Given the description of an element on the screen output the (x, y) to click on. 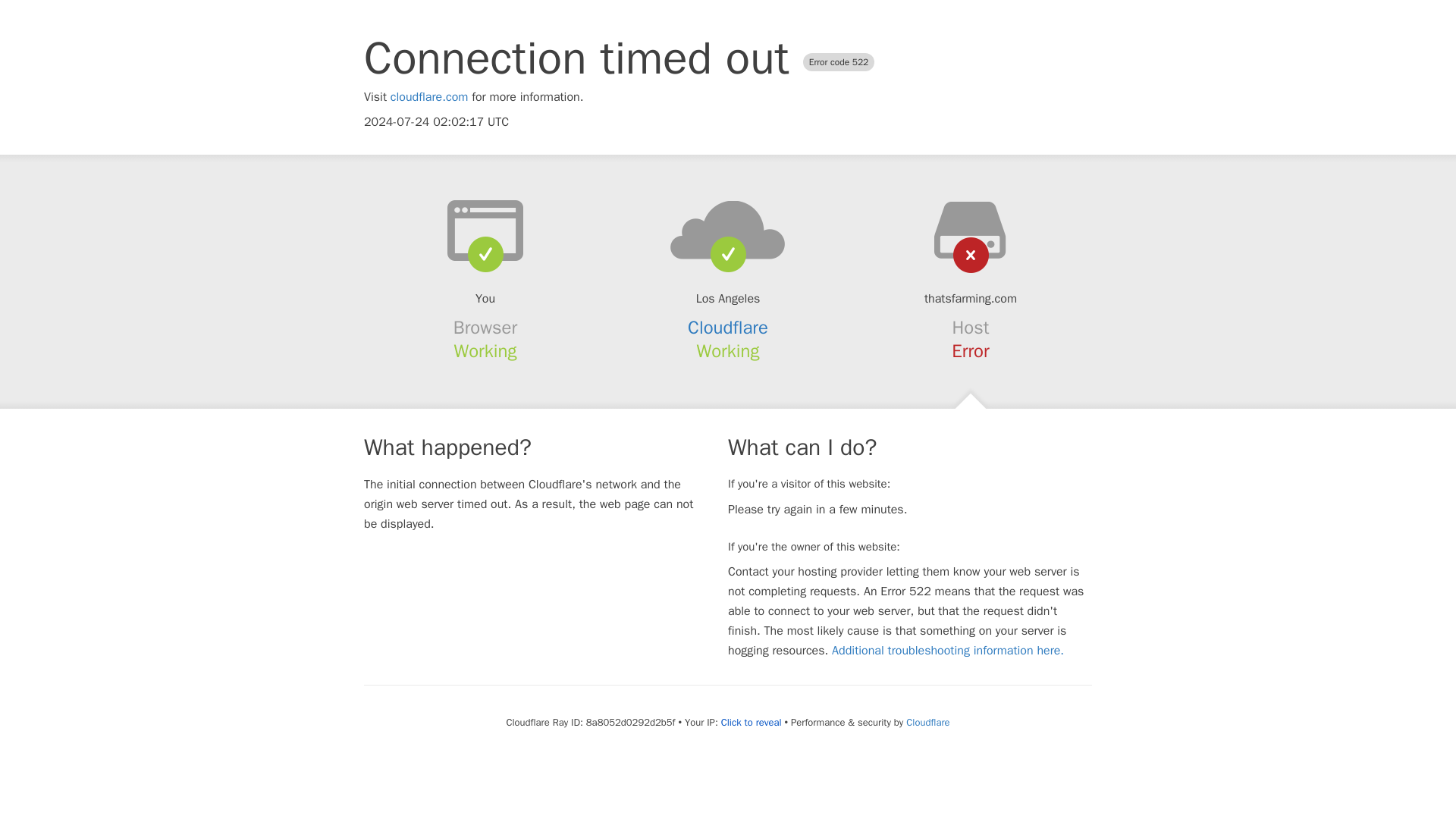
Cloudflare (927, 721)
Additional troubleshooting information here. (947, 650)
Click to reveal (750, 722)
cloudflare.com (429, 96)
Cloudflare (727, 327)
